Given the description of an element on the screen output the (x, y) to click on. 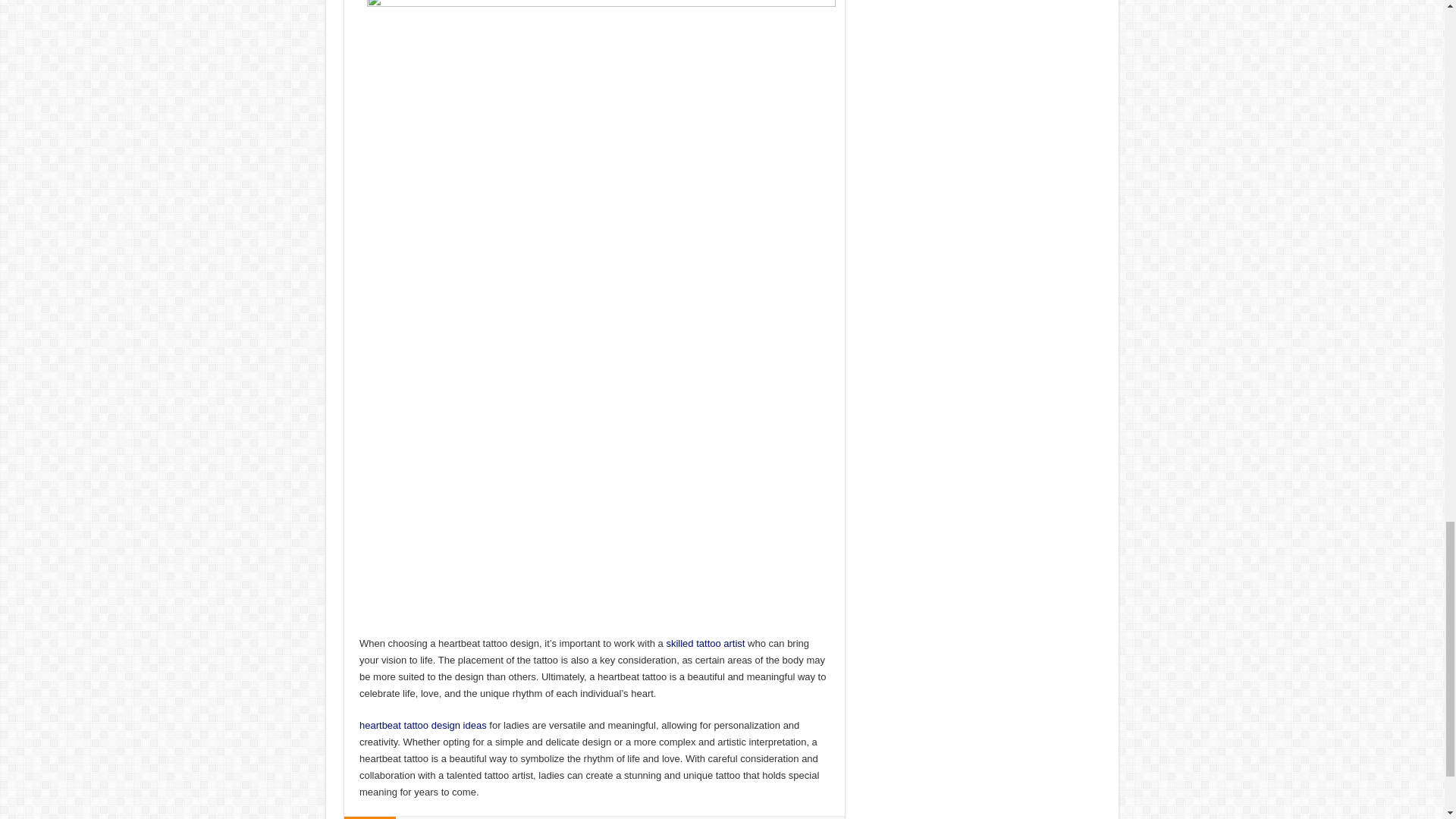
heartbeat tattoo design ideas (422, 725)
skilled tattoo artist (704, 643)
Heartbeat Tattoo Design Ideas For Ladies (422, 725)
Captivating Heartbeat Tattoo Designs for Women (600, 308)
